Given the description of an element on the screen output the (x, y) to click on. 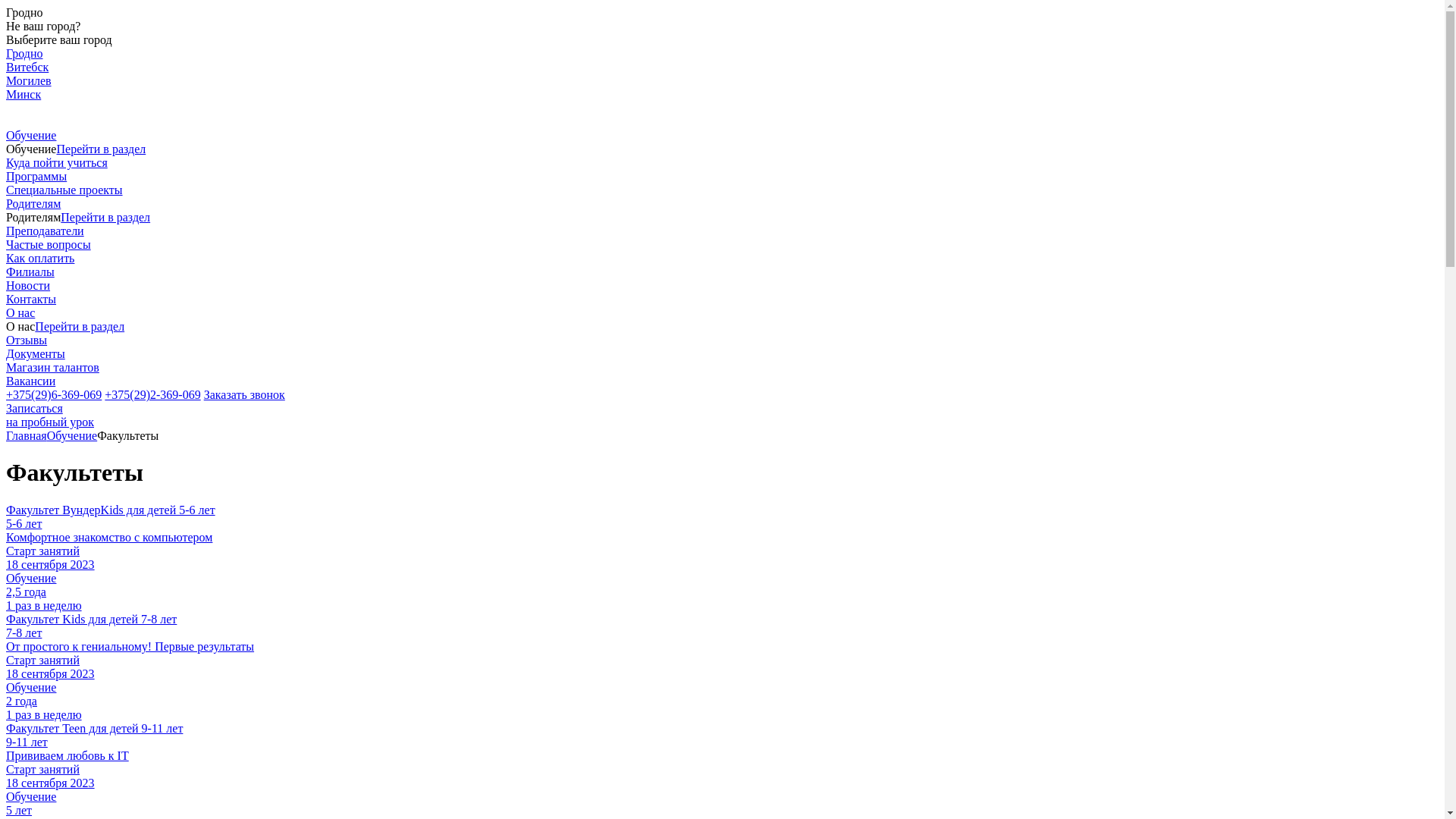
+375(29)2-369-069 Element type: text (152, 394)
+375(29)6-369-069 Element type: text (53, 394)
